Given the description of an element on the screen output the (x, y) to click on. 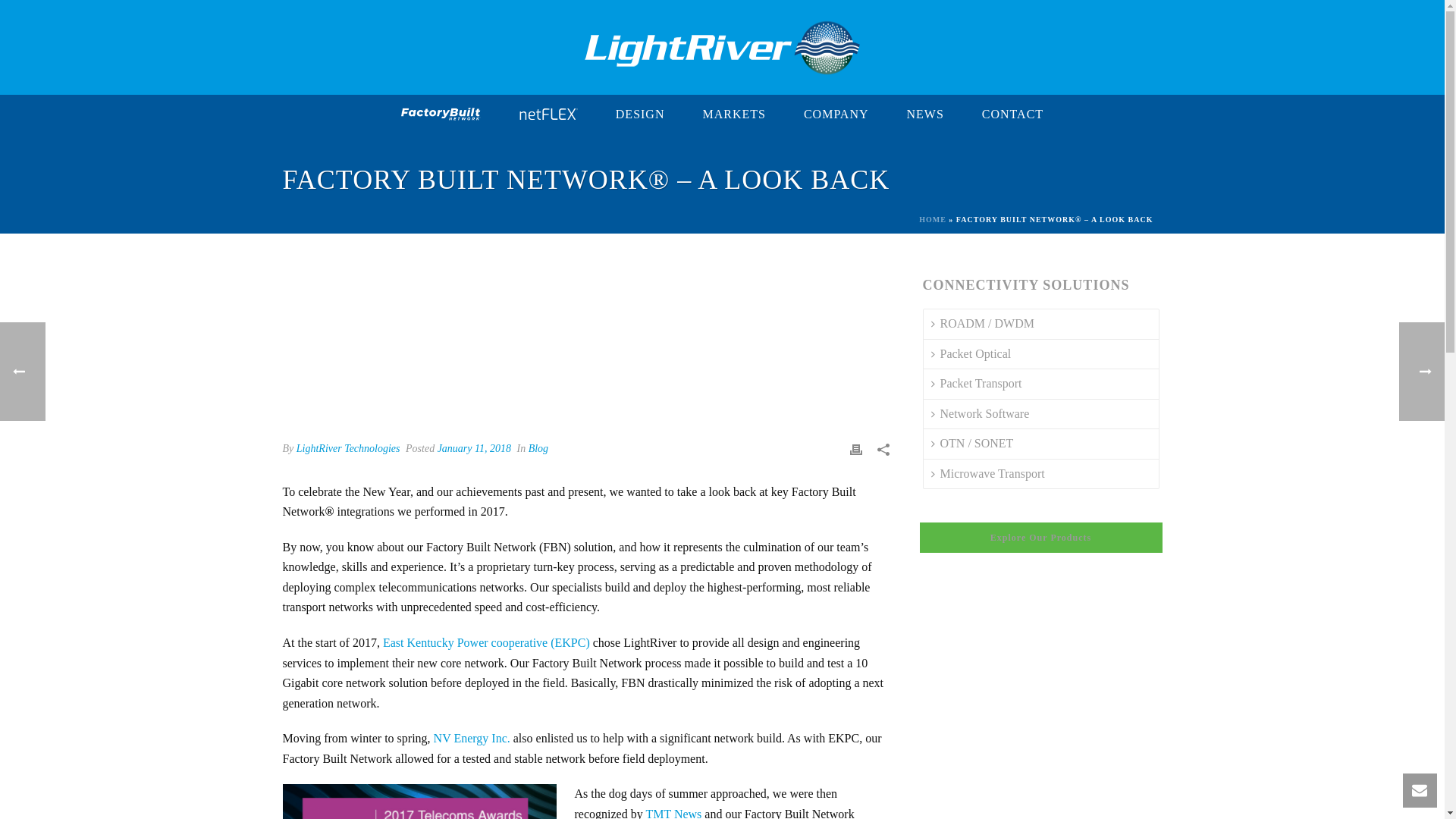
NEWS (924, 115)
CONTACT (1012, 115)
Explore Our Products (1039, 537)
DESIGN (640, 115)
MARKETS (733, 115)
COMPANY (836, 115)
MARKETS (733, 115)
DESIGN (640, 115)
LightRiver Companies (721, 47)
NEWS (924, 115)
